Given the description of an element on the screen output the (x, y) to click on. 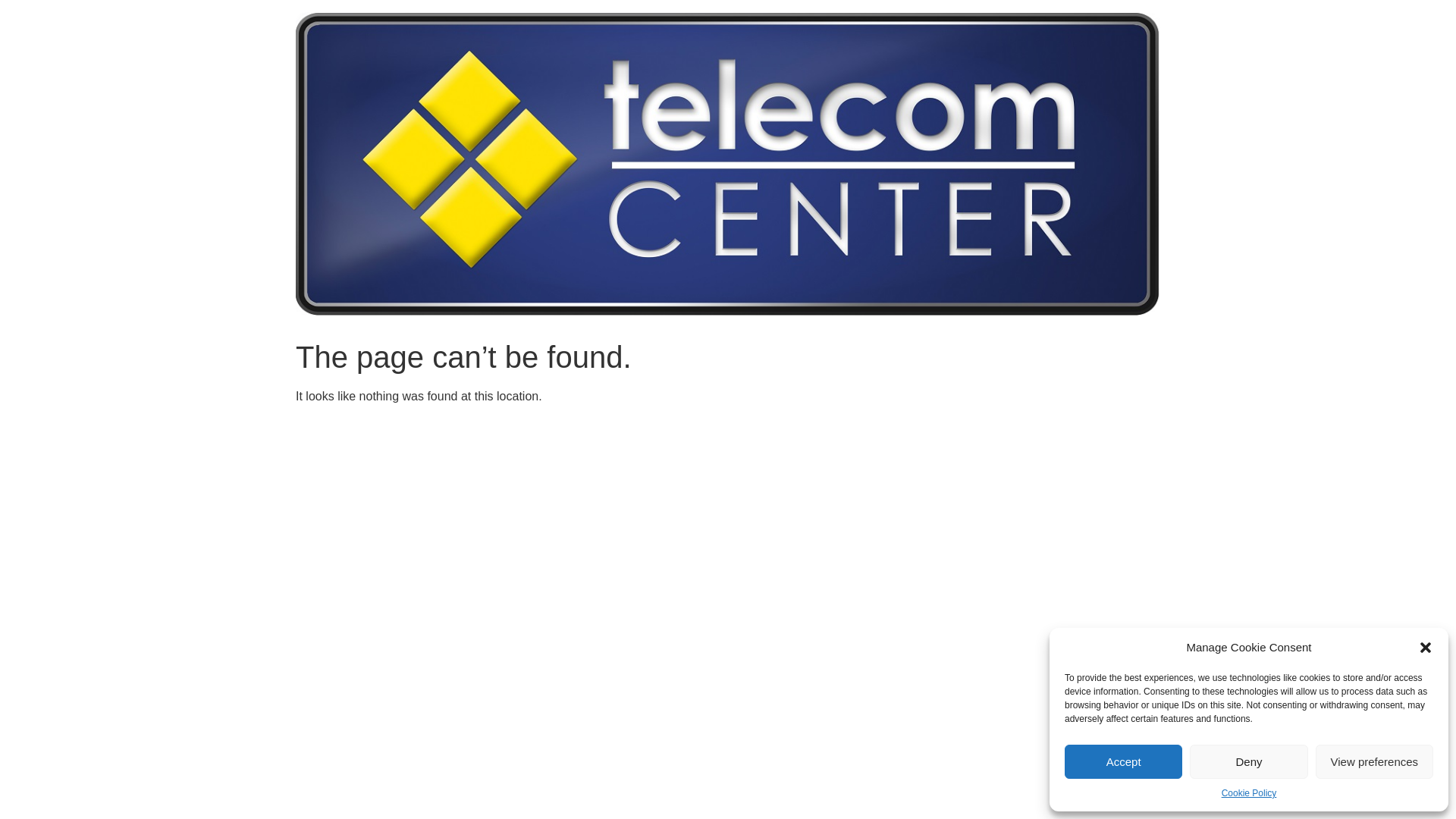
Accept Element type: text (1123, 761)
Cookie Policy Element type: text (1249, 793)
View preferences Element type: text (1374, 761)
Deny Element type: text (1248, 761)
